Given the description of an element on the screen output the (x, y) to click on. 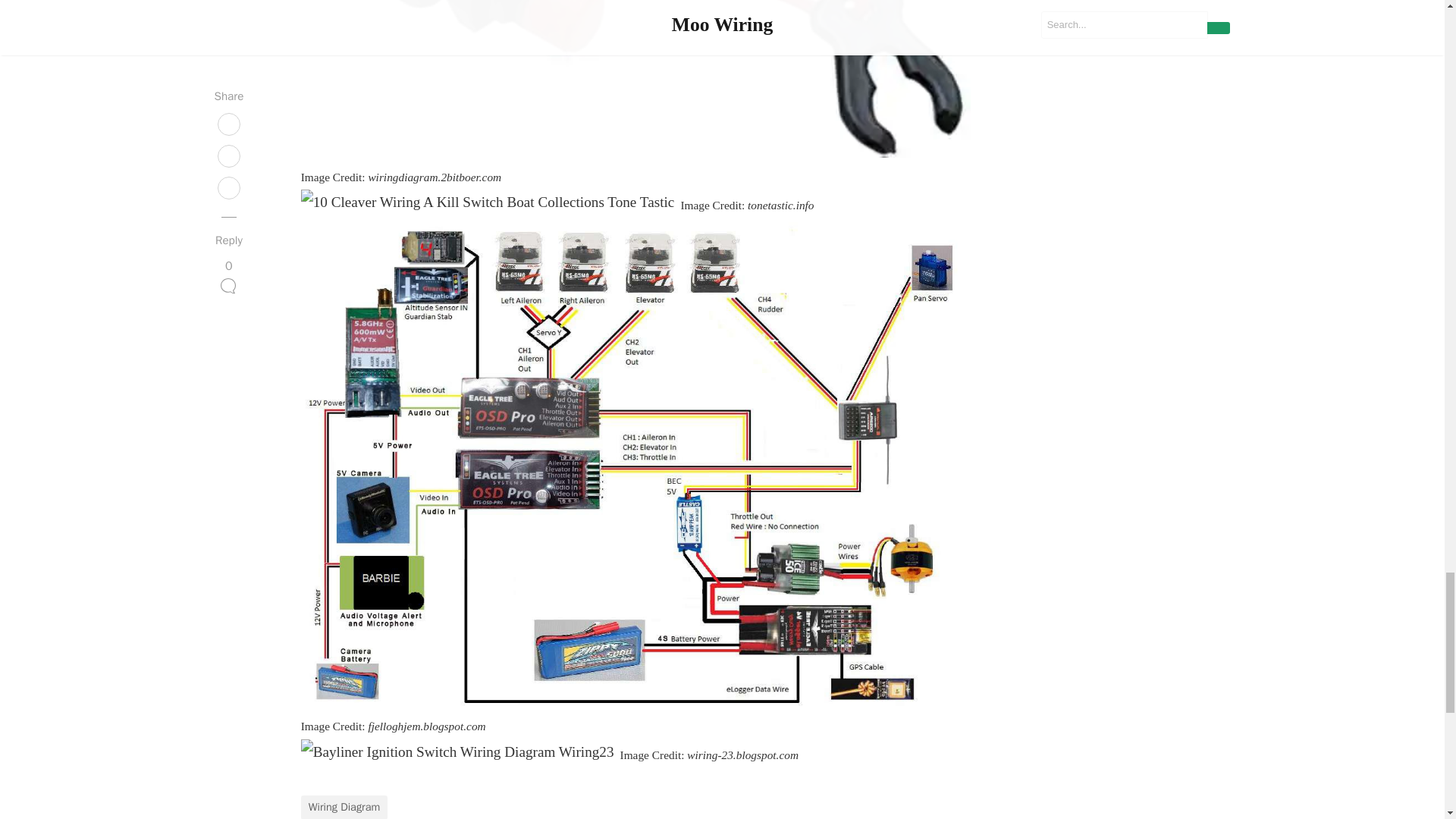
Wiring Diagram (344, 807)
